Given the description of an element on the screen output the (x, y) to click on. 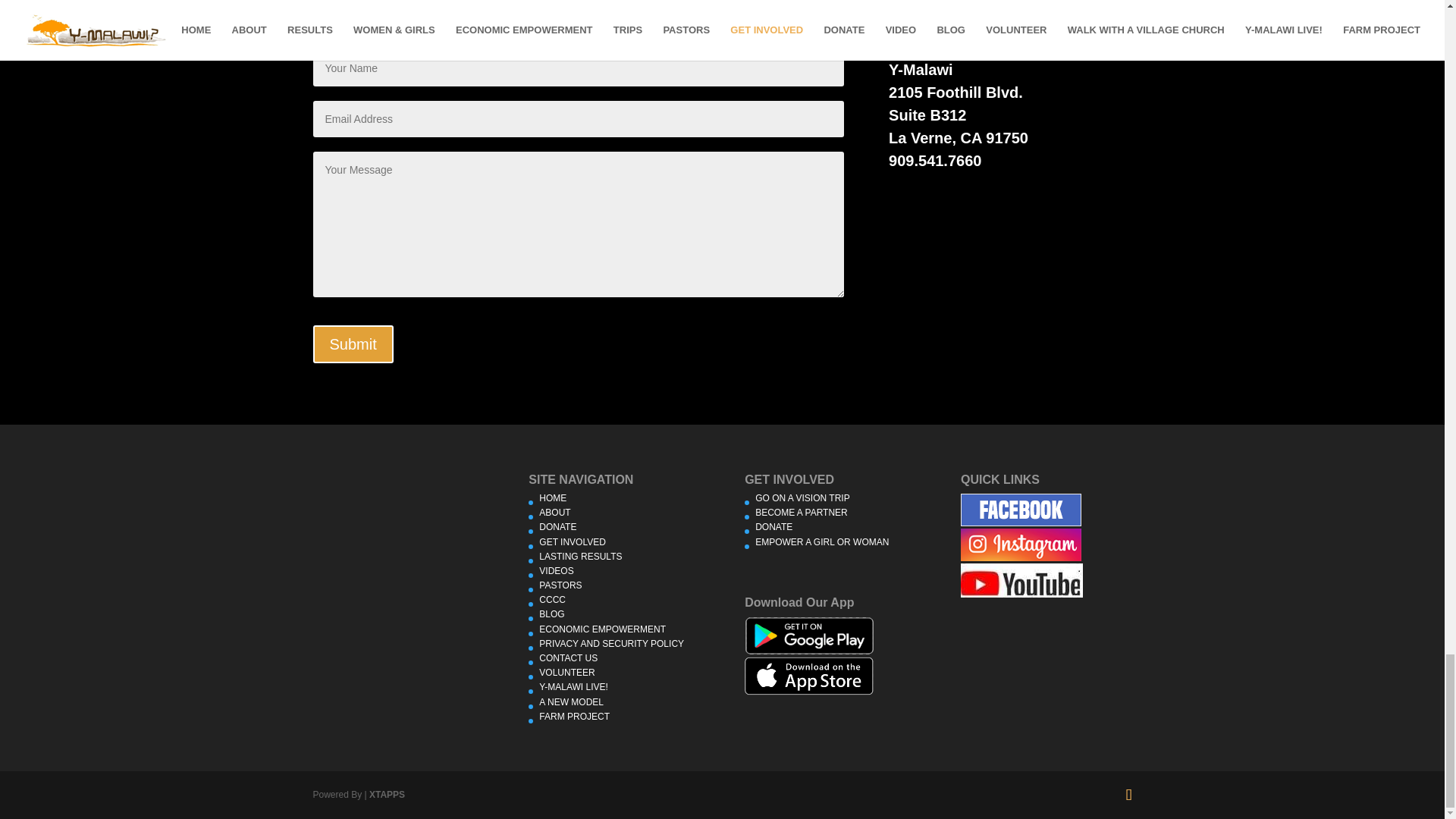
advertisement (808, 676)
advertisement (1020, 544)
advertisement (1020, 509)
Submit (353, 344)
advertisement (808, 635)
advertisement (1021, 580)
